Given the description of an element on the screen output the (x, y) to click on. 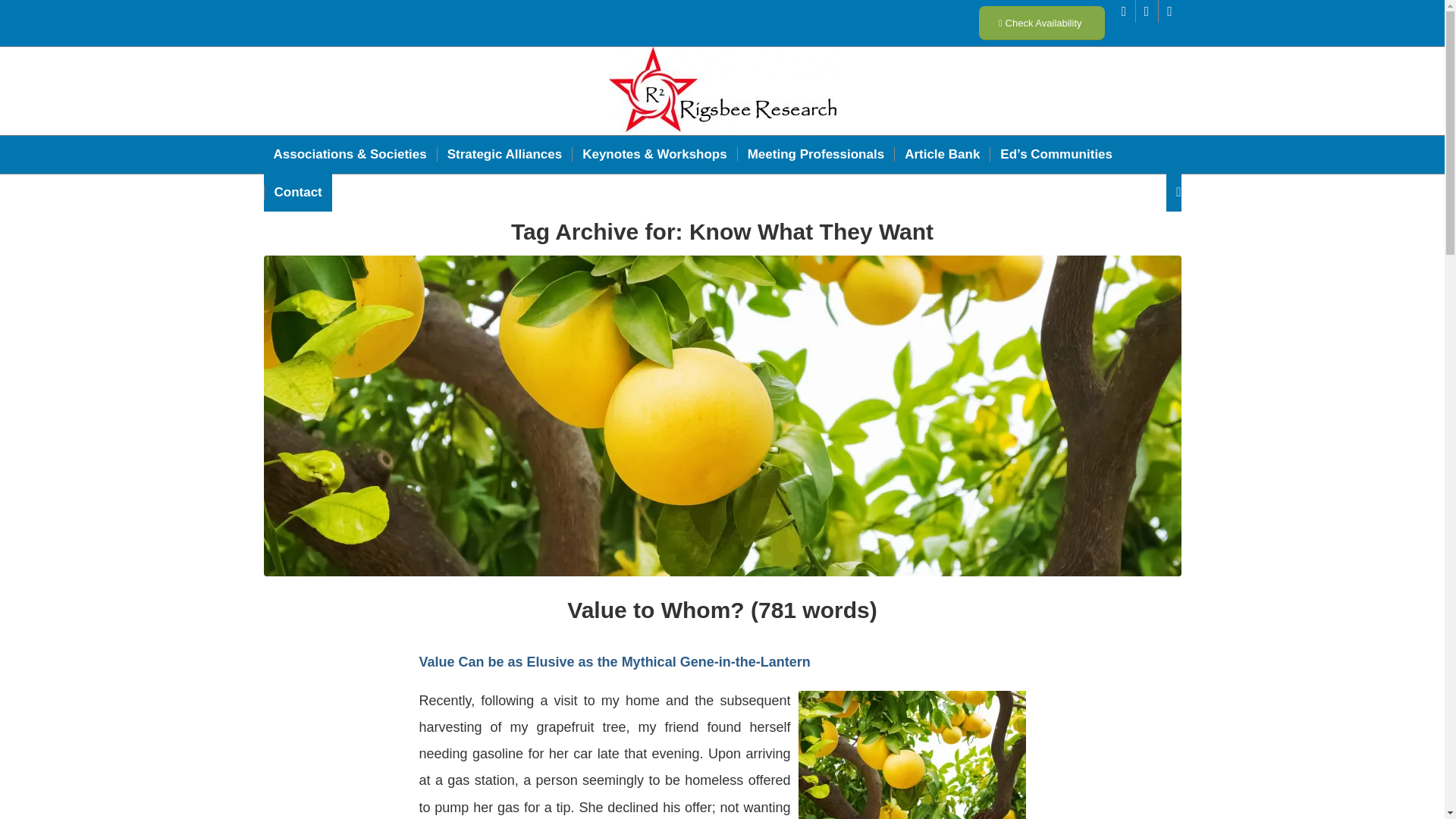
Check Availability (1041, 22)
Youtube (1169, 11)
LinkedIn (1124, 11)
Meeting Professionals (814, 154)
Strategic Alliances (504, 154)
Twitter (1146, 11)
